Given the description of an element on the screen output the (x, y) to click on. 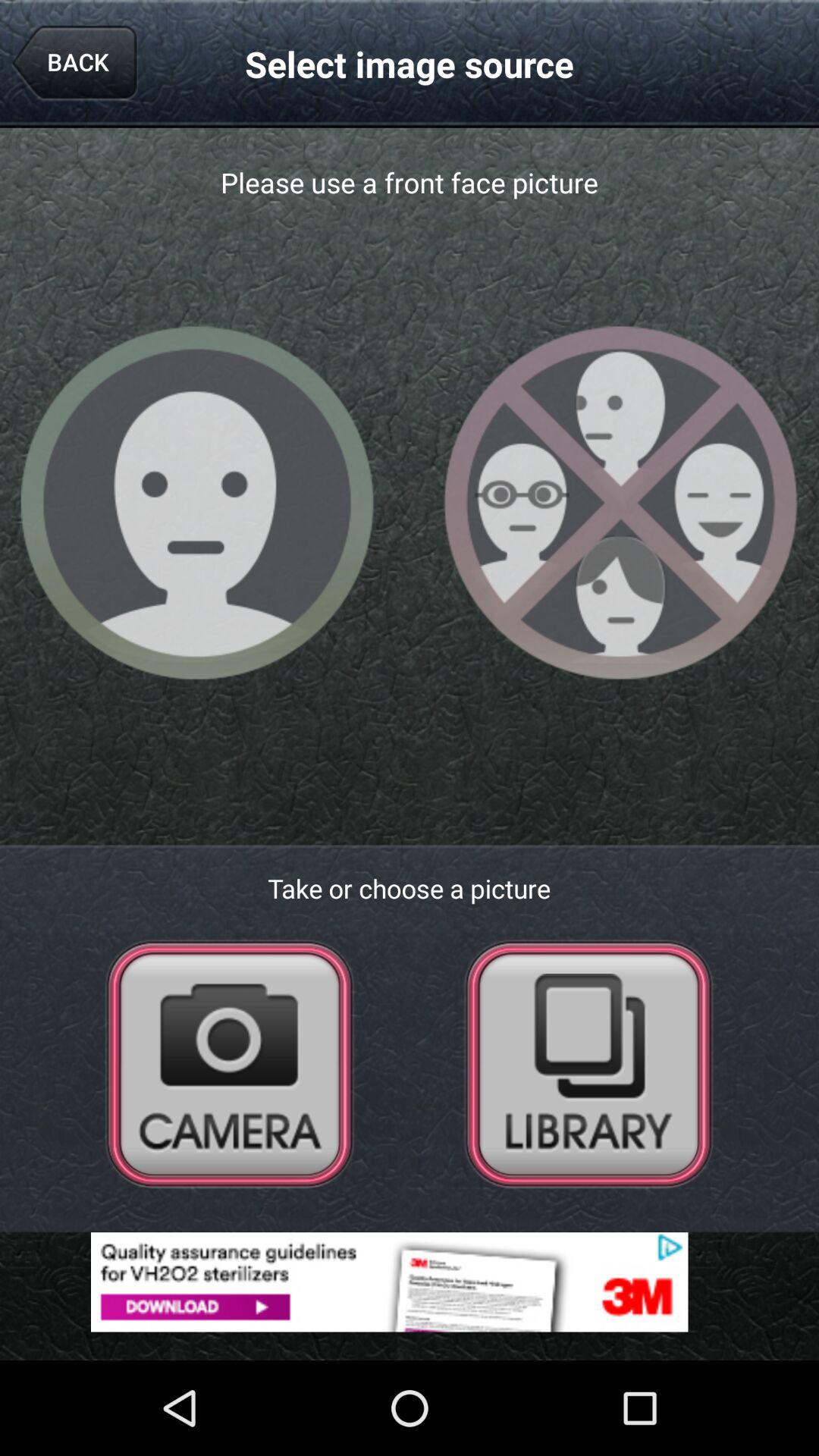
go to photos (588, 1063)
